Given the description of an element on the screen output the (x, y) to click on. 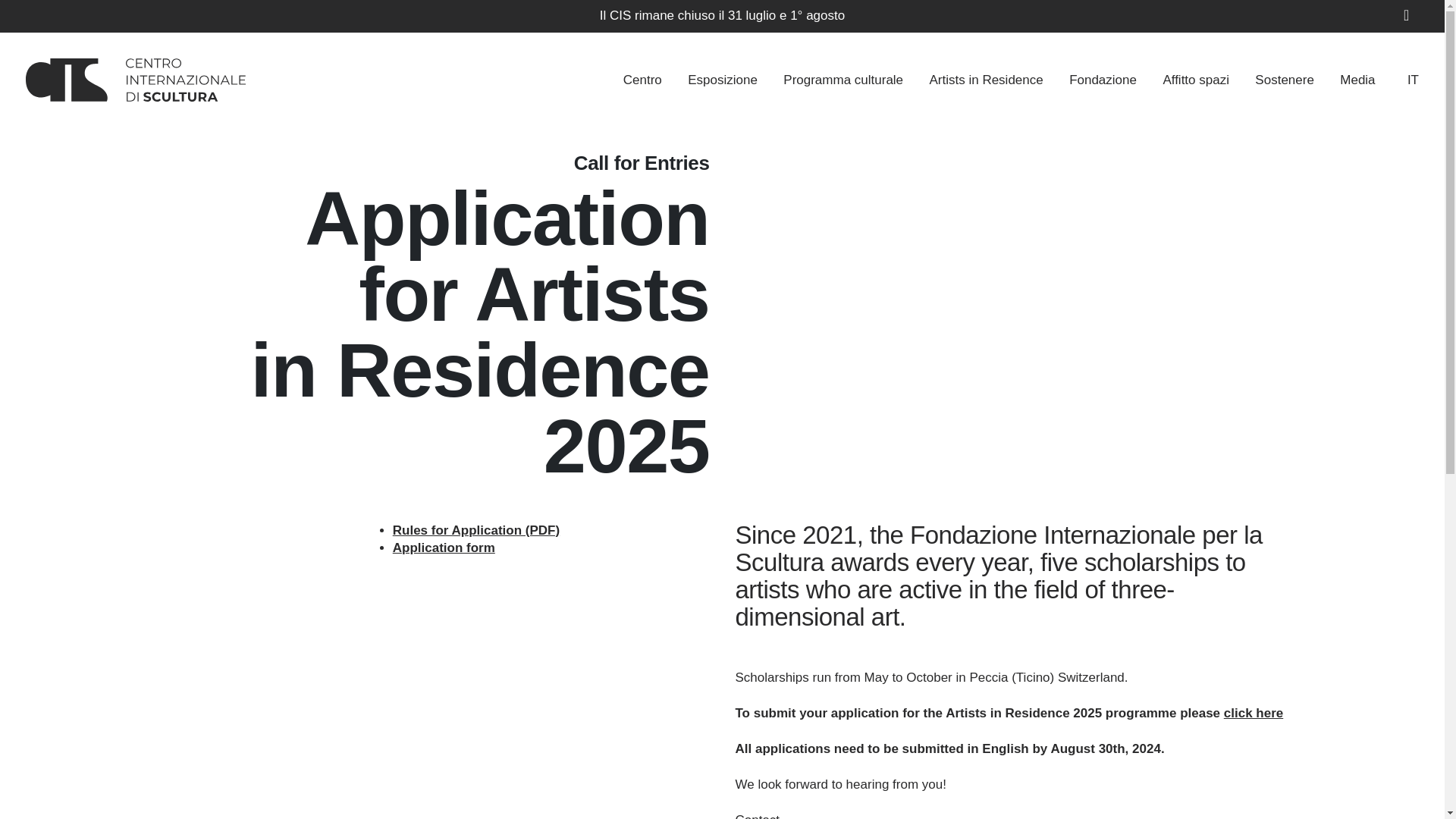
Fondazione (1102, 79)
Esposizione (722, 79)
Affitto spazi (1194, 79)
Application form (444, 547)
click here (1253, 712)
Artists in Residence (985, 79)
Media (1356, 79)
IT (1397, 79)
Programma culturale (842, 79)
Sostenere (1284, 79)
Centro (642, 79)
